Given the description of an element on the screen output the (x, y) to click on. 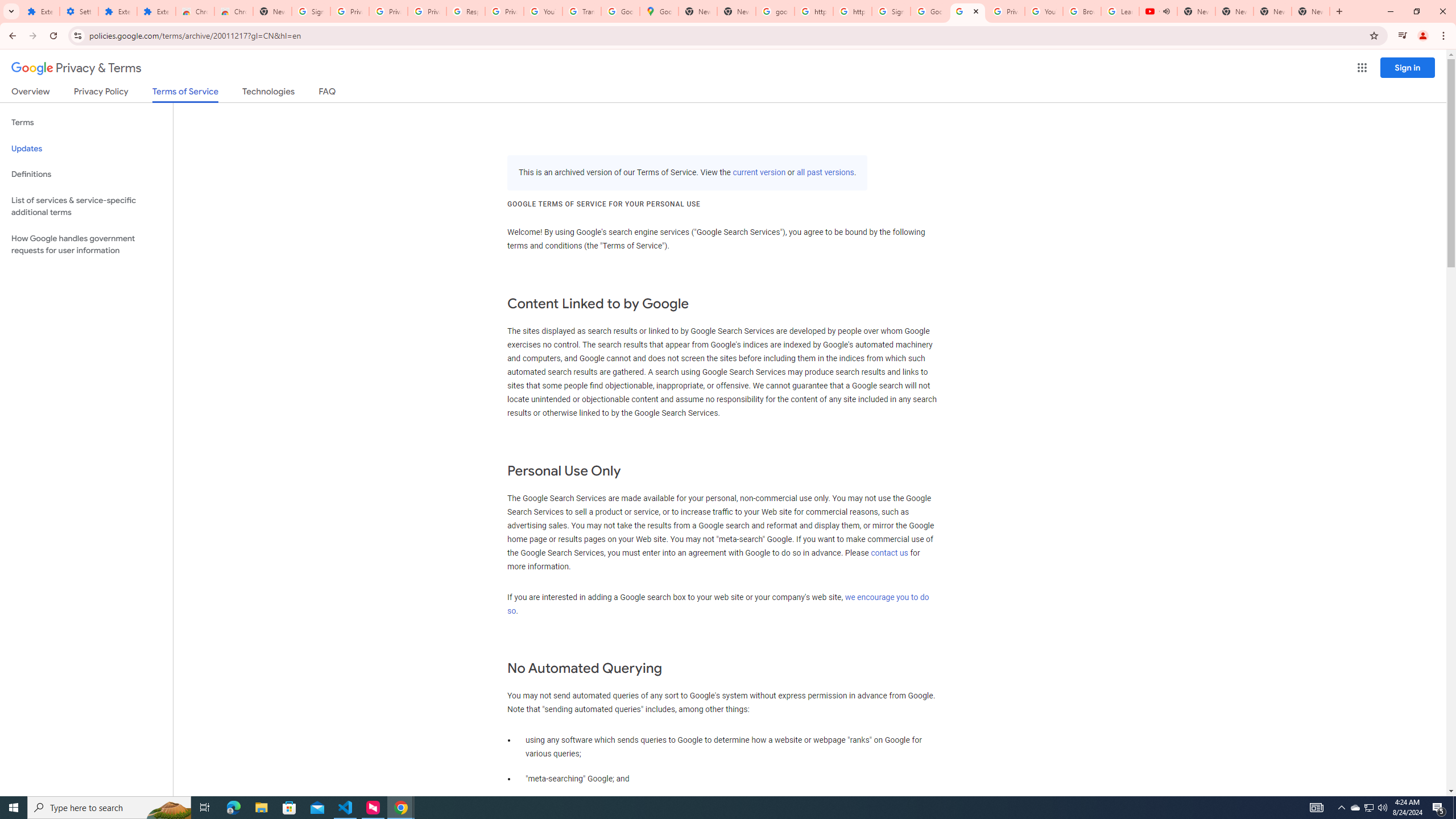
Extensions (156, 11)
Address and search bar (725, 35)
New Tab (1311, 11)
Technologies (268, 93)
Sign in - Google Accounts (310, 11)
Extensions (40, 11)
